Given the description of an element on the screen output the (x, y) to click on. 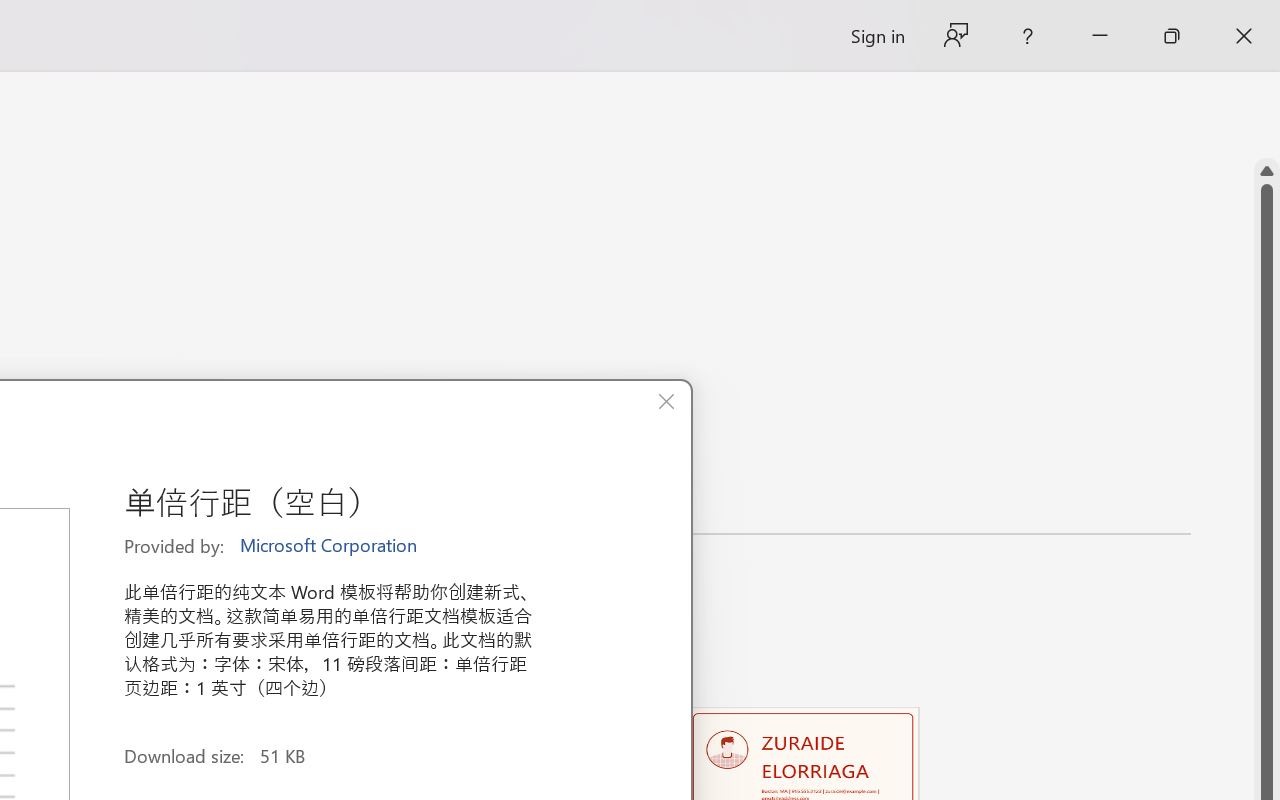
Line up (1267, 171)
Microsoft Corporation (330, 546)
